Given the description of an element on the screen output the (x, y) to click on. 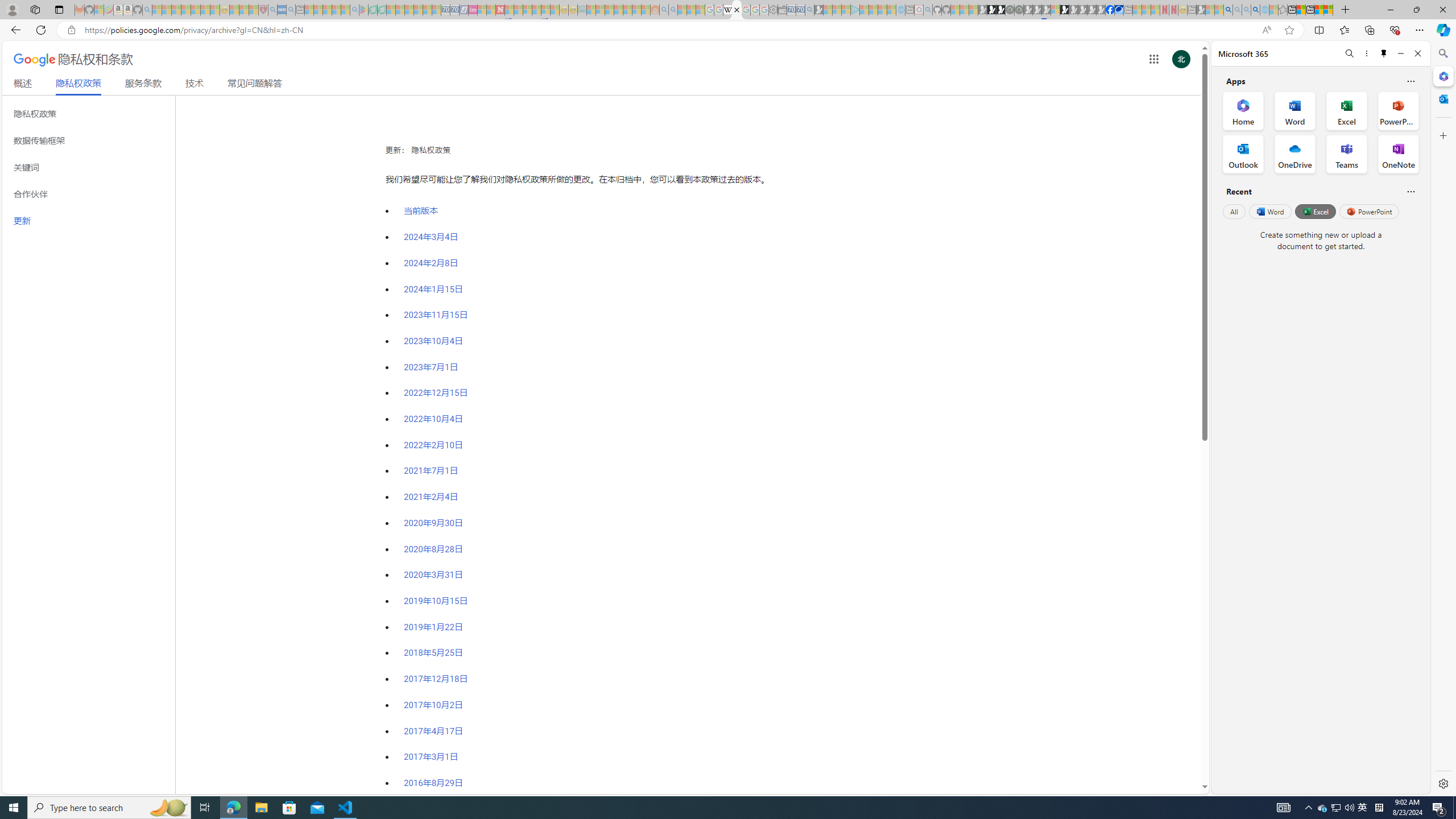
Google Chrome Internet Browser Download - Search Images (1255, 9)
